Given the description of an element on the screen output the (x, y) to click on. 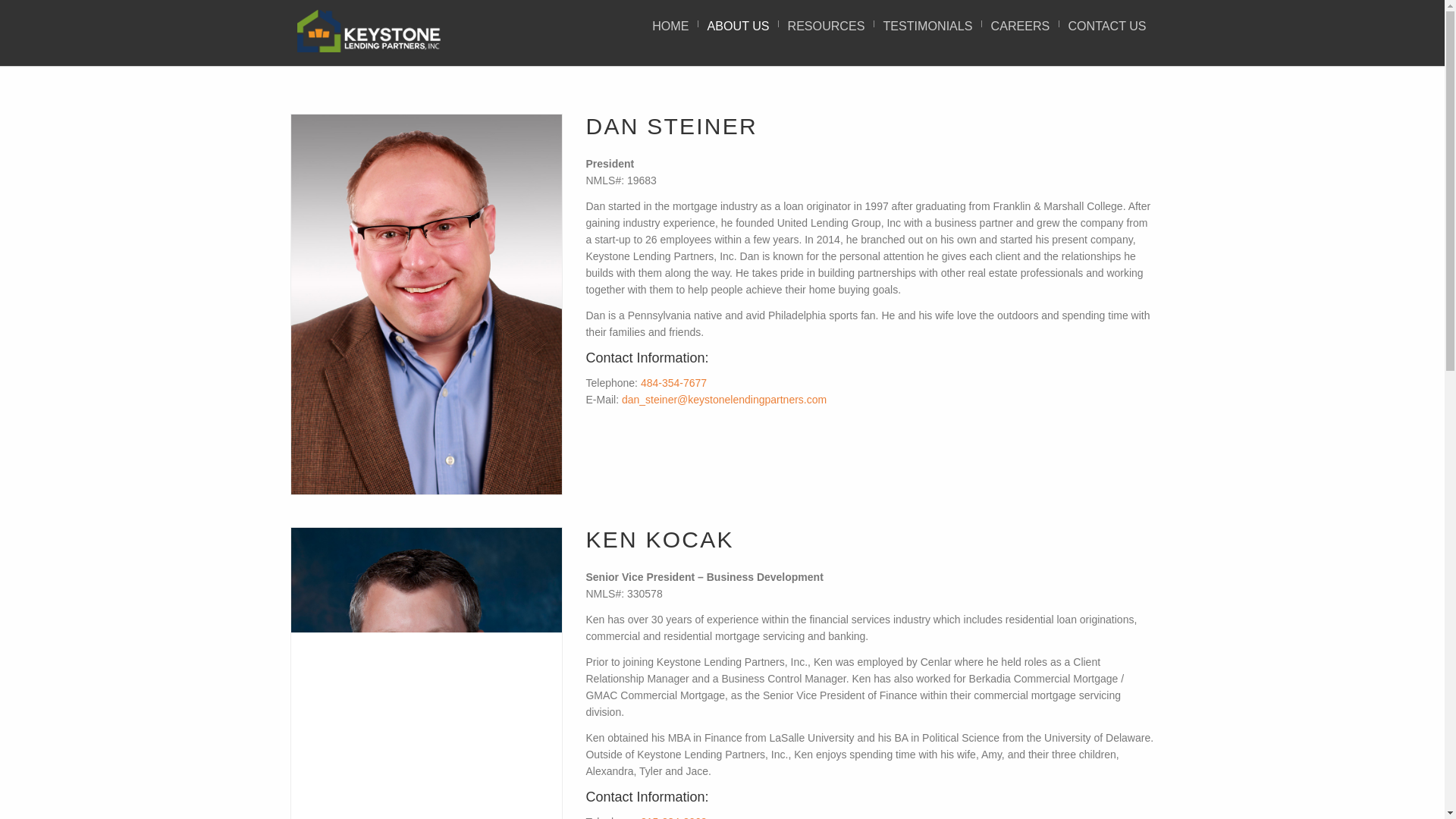
HOME (670, 25)
CAREERS (1020, 25)
CONTACT US (1106, 25)
ABOUT US (737, 25)
RESOURCES (825, 25)
484-354-7677 (673, 382)
TESTIMONIALS (927, 25)
215-284-2062 (673, 817)
